Given the description of an element on the screen output the (x, y) to click on. 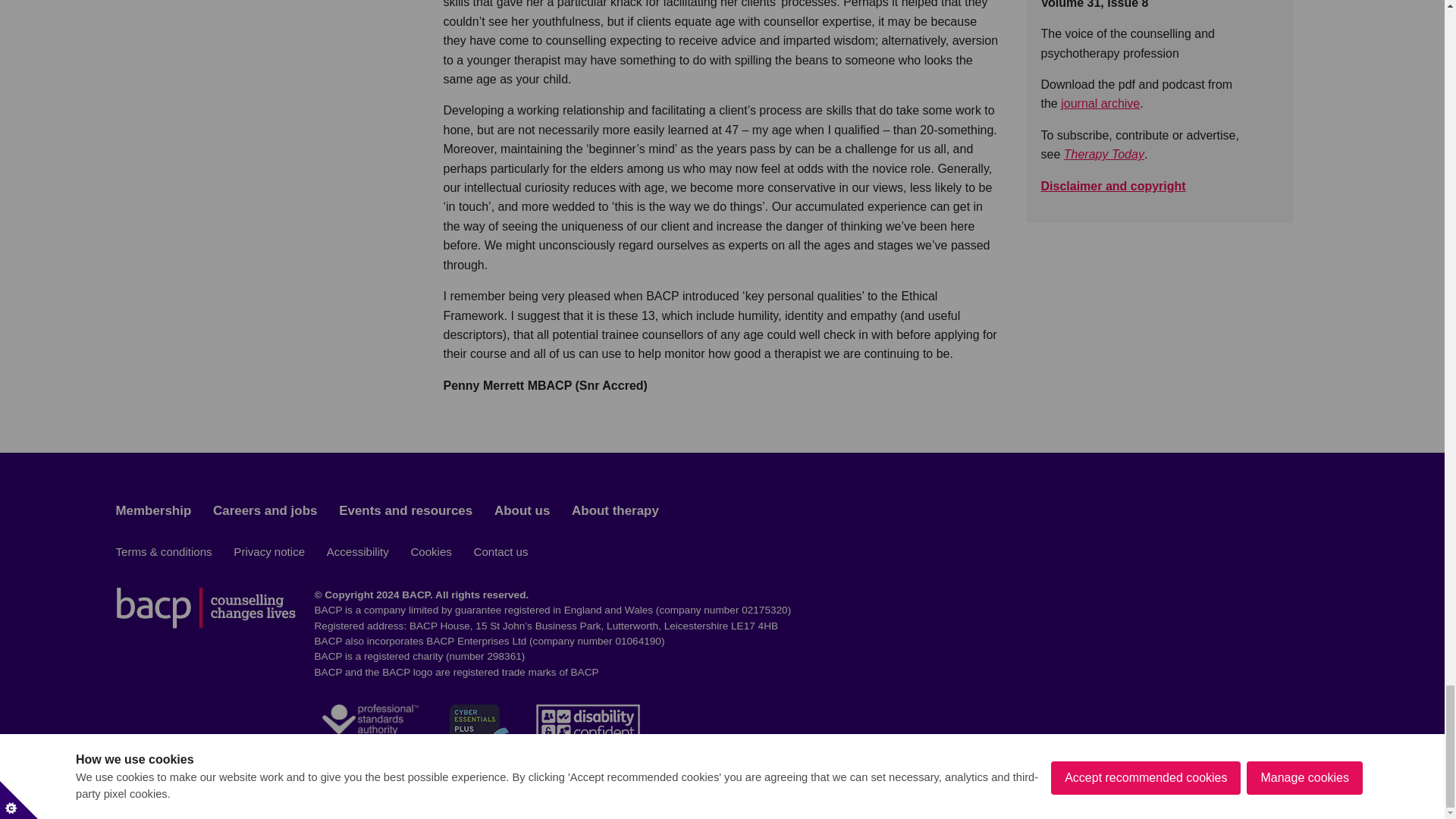
Disclaimer and copyright (1113, 185)
Therapy Today (1104, 154)
Archive (1100, 103)
